Given the description of an element on the screen output the (x, y) to click on. 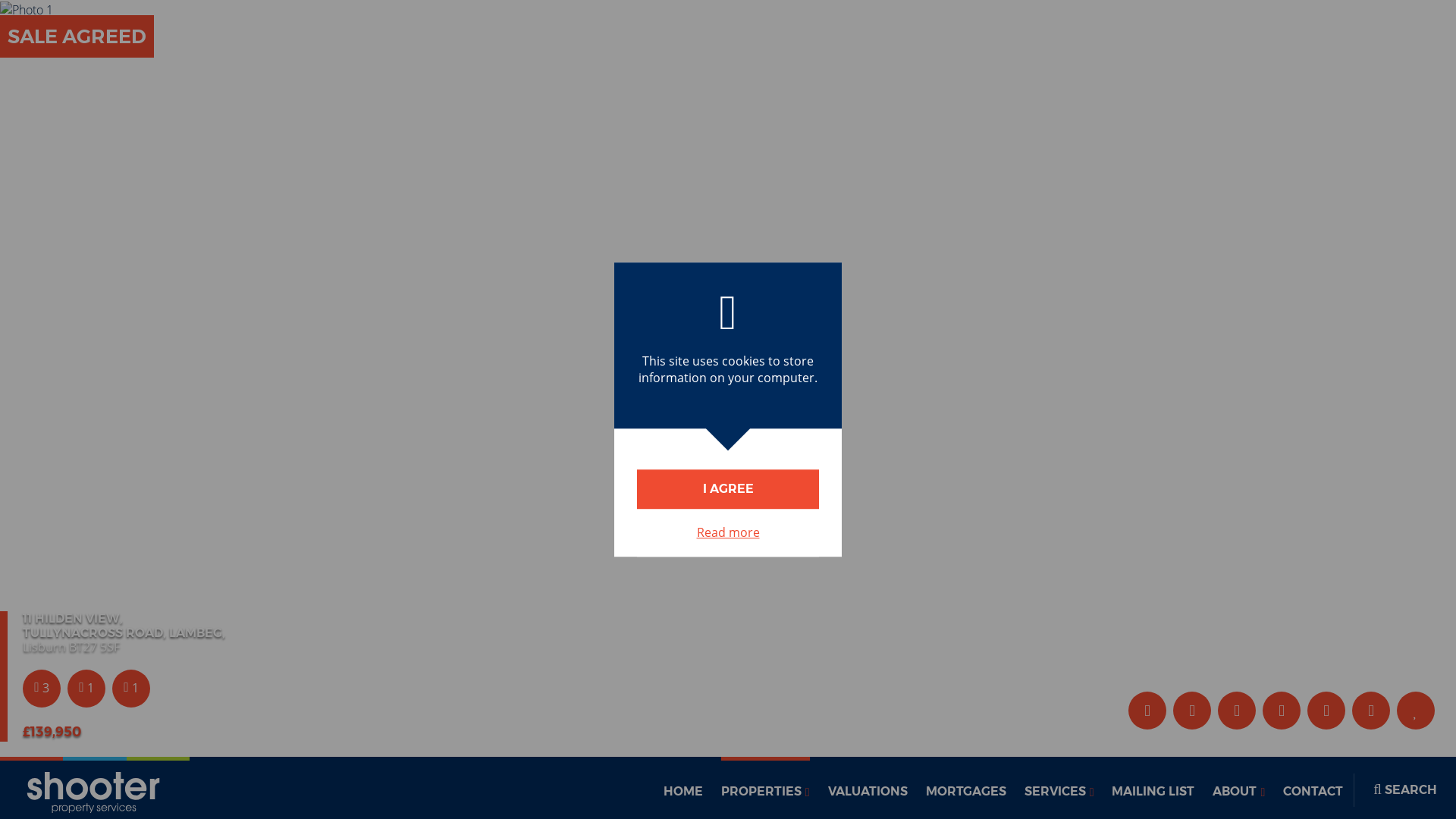
Red Bar Blue Bar Green Bar (94, 787)
PROPERTIES (764, 787)
SERVICES (1059, 787)
MAILING LIST (1152, 787)
CONTACT (1312, 787)
I AGREE (727, 488)
Read more (727, 532)
MORTGAGES (966, 787)
VALUATIONS (867, 787)
